Given the description of an element on the screen output the (x, y) to click on. 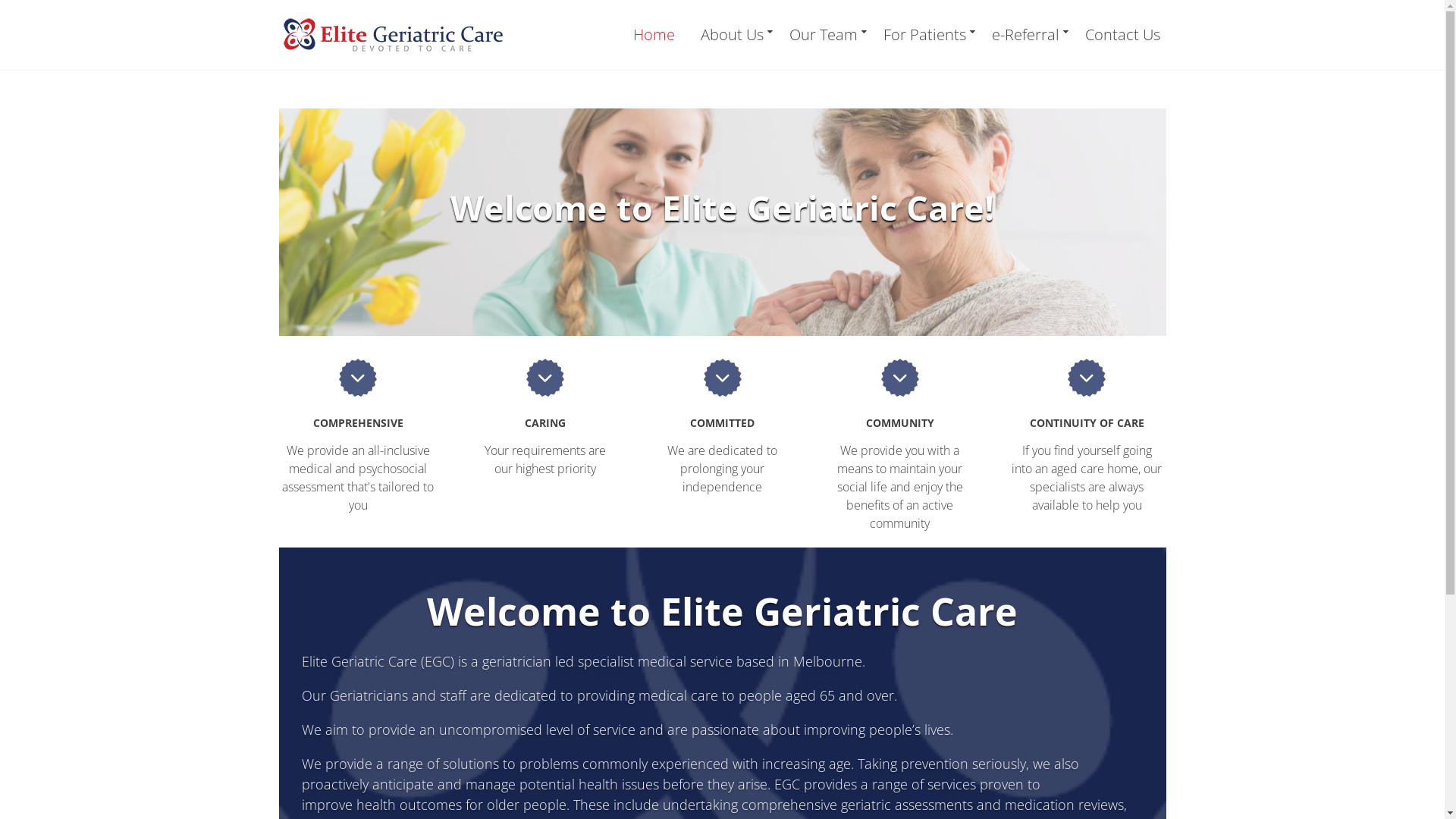
Our Team Element type: text (823, 34)
Home Element type: text (653, 34)
About Us Element type: text (732, 34)
For Patients Element type: text (924, 34)
Contact Us Element type: text (1116, 34)
e-Referral Element type: text (1025, 34)
